Given the description of an element on the screen output the (x, y) to click on. 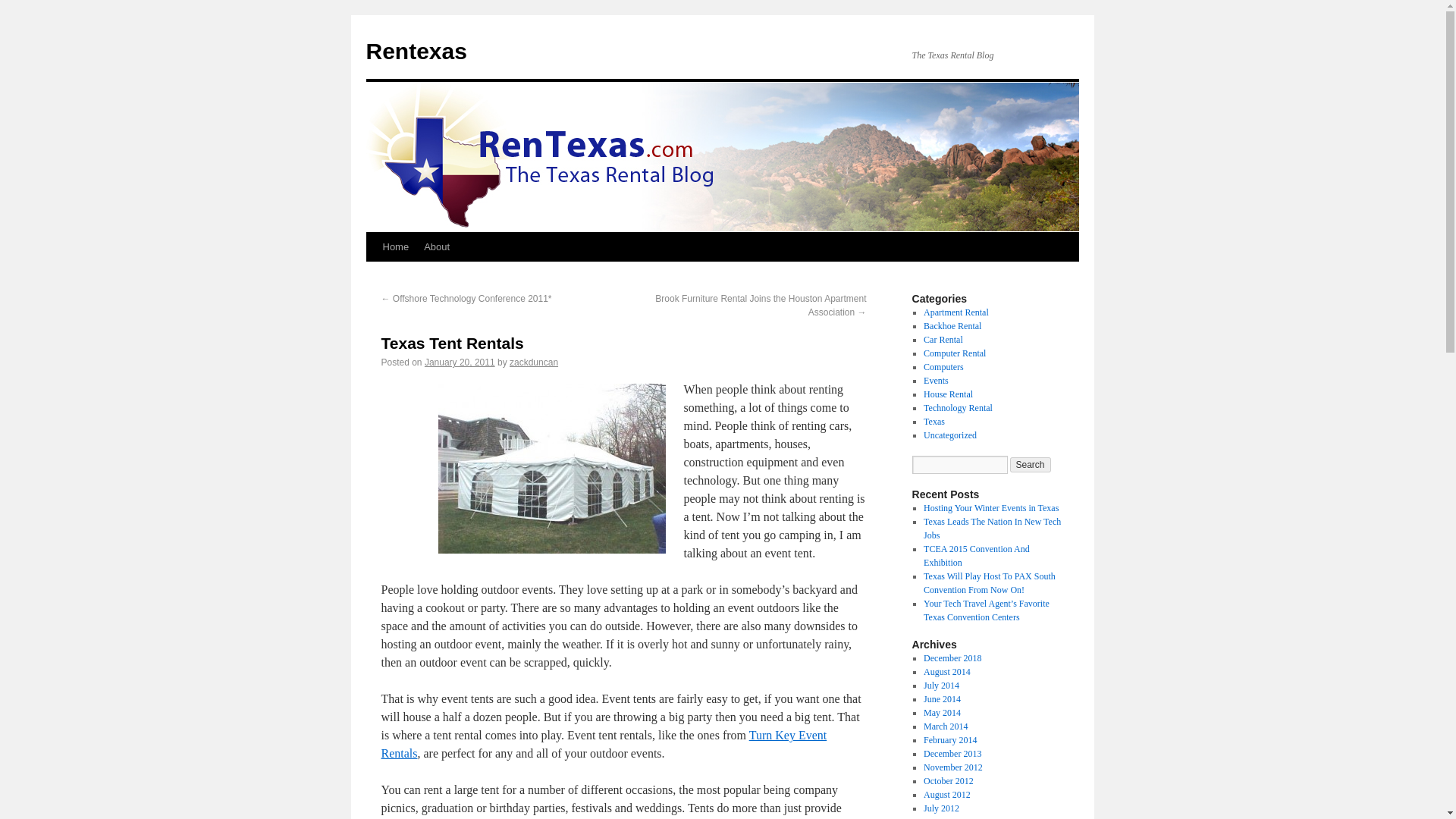
Backhoe Rental (952, 326)
January 20, 2011 (460, 362)
Uncategorized (949, 434)
Search (1030, 464)
Apartment Rental (955, 312)
Rentexas (415, 50)
Rentexas (415, 50)
4:31 pm (460, 362)
Car Rental (942, 339)
View all posts by zackduncan (533, 362)
zackduncan (533, 362)
Events (936, 380)
Tent Rentals in Texas (603, 744)
Home (395, 246)
outdoor tent (551, 468)
